Given the description of an element on the screen output the (x, y) to click on. 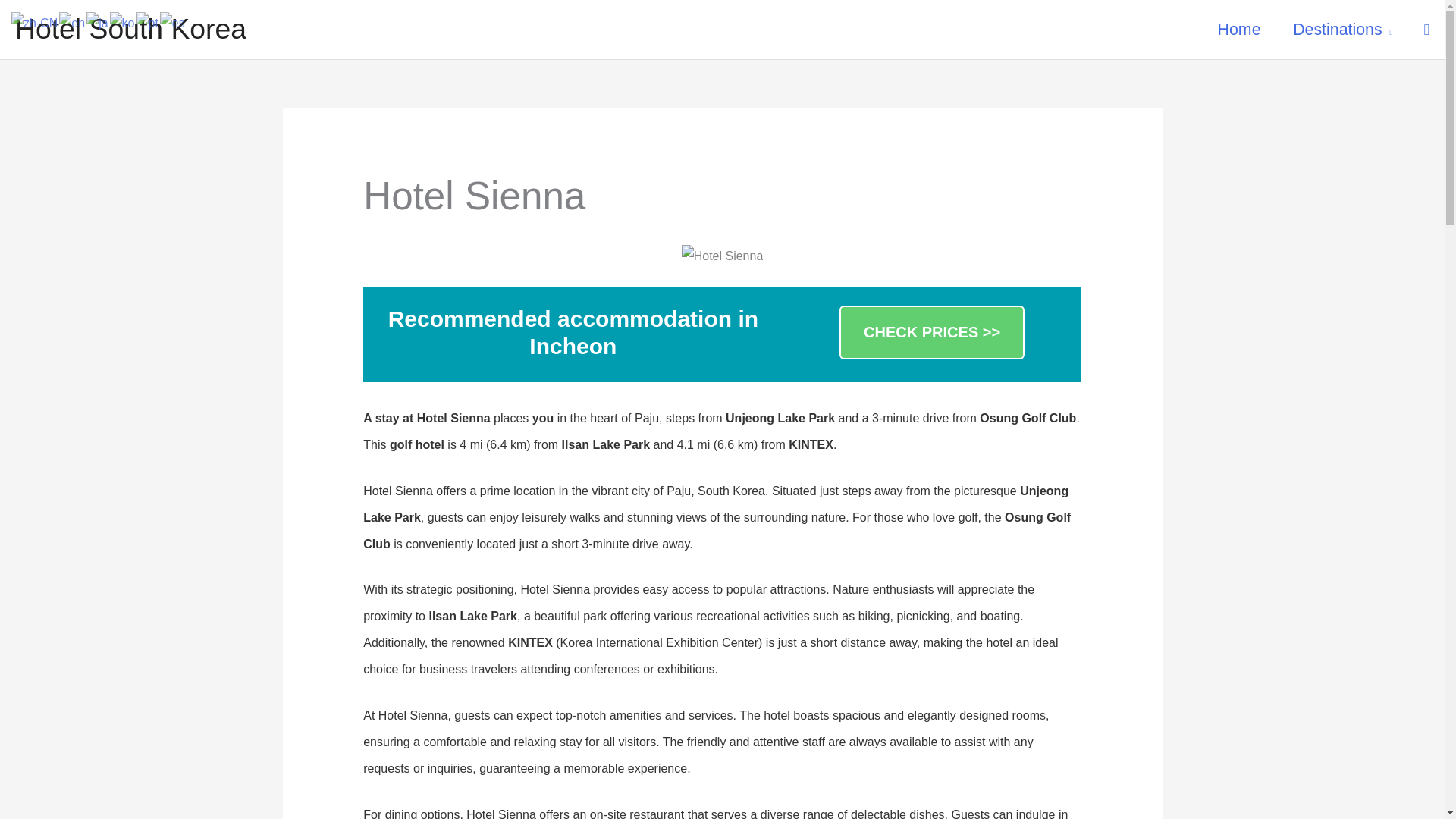
Hotel Sienna (721, 255)
Destinations (1342, 29)
English (72, 21)
Hotel South Korea (130, 29)
Home (1238, 29)
Japanese (97, 21)
Spanish (173, 21)
Korean (123, 21)
Portuguese (148, 21)
